Given the description of an element on the screen output the (x, y) to click on. 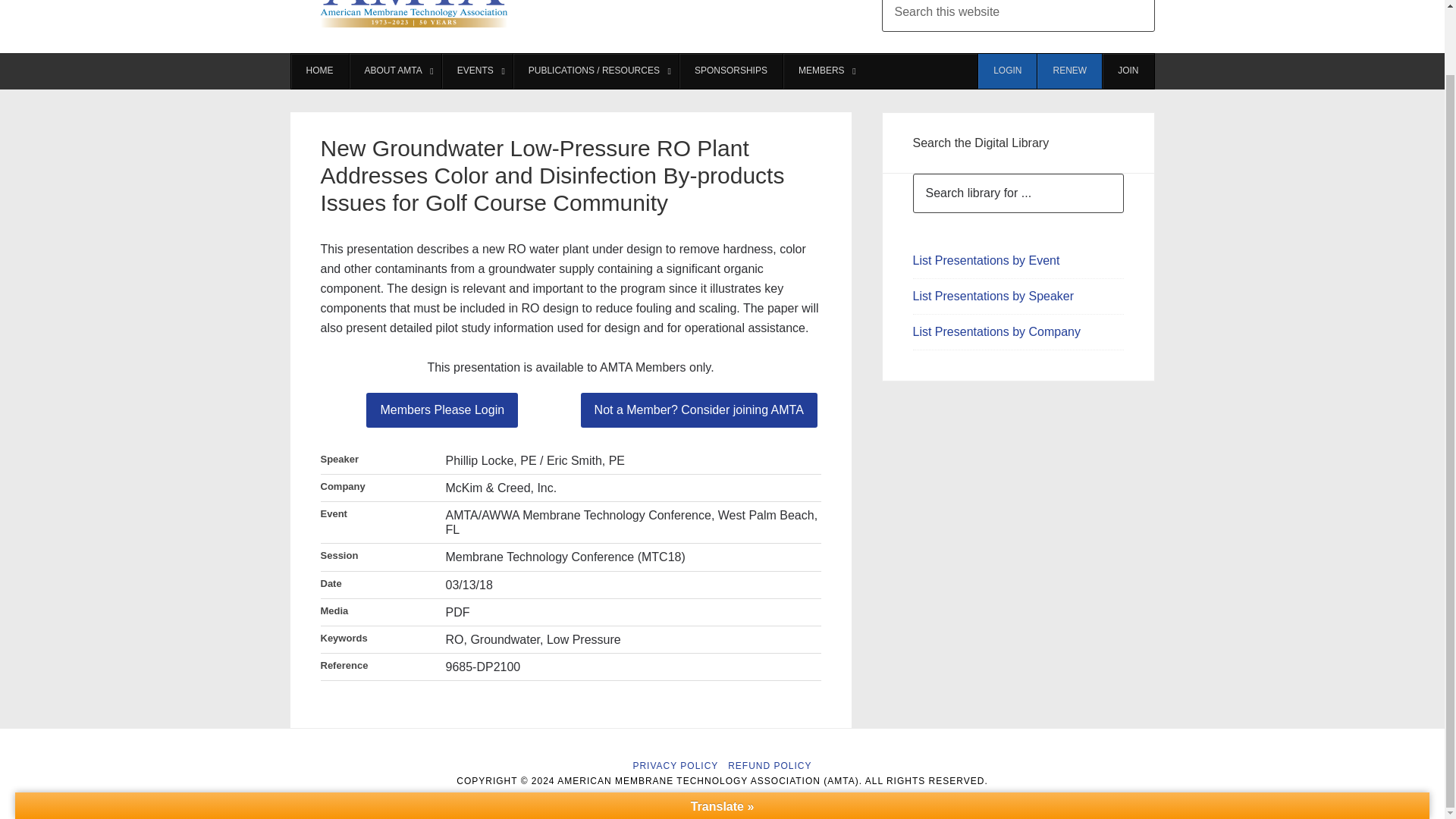
EVENTS (476, 71)
ABOUT AMTA (395, 71)
Search library for ... (1018, 192)
Search library for ... (1018, 192)
HOME (320, 71)
